Given the description of an element on the screen output the (x, y) to click on. 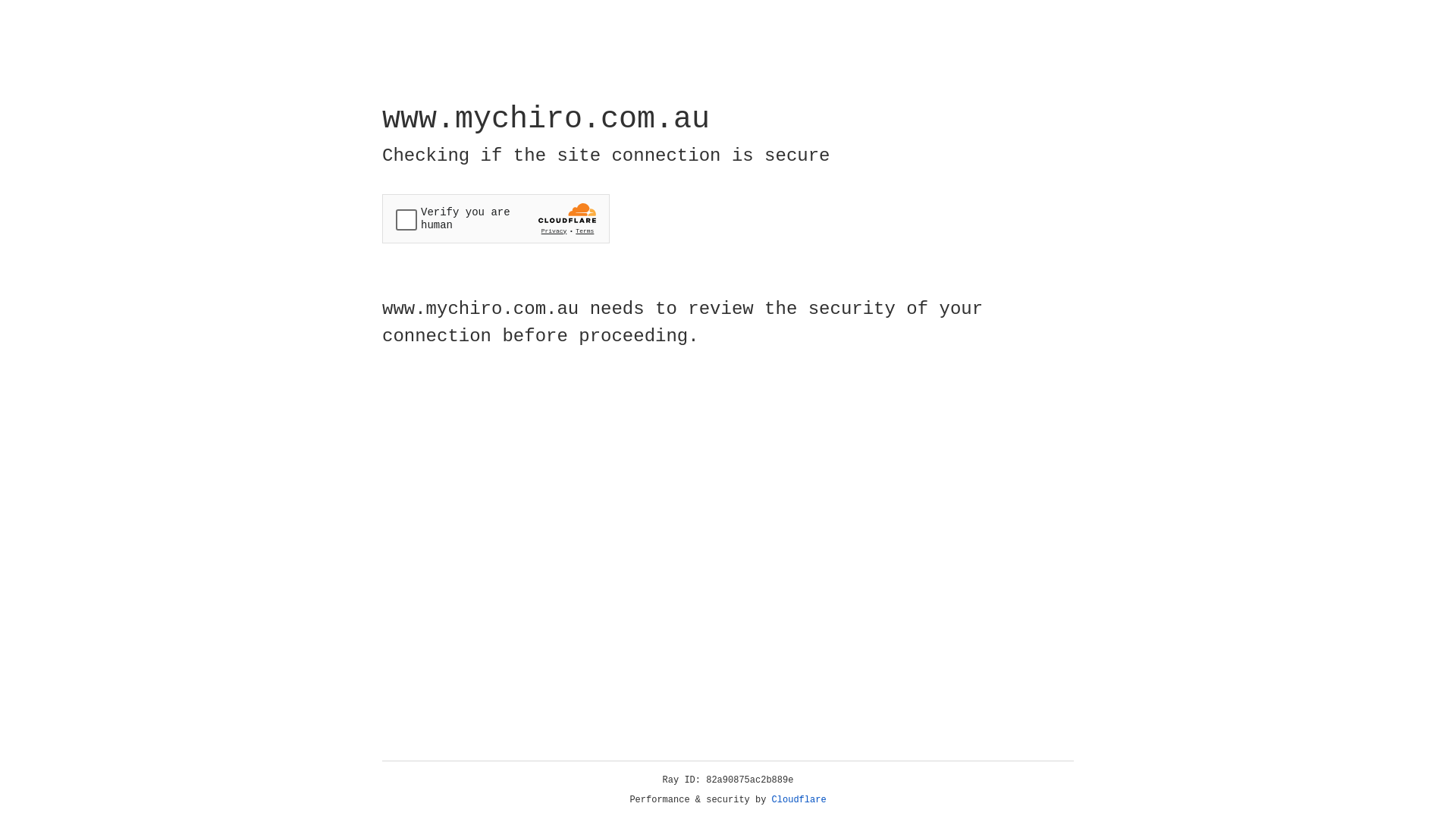
Cloudflare Element type: text (798, 799)
Widget containing a Cloudflare security challenge Element type: hover (495, 218)
